Given the description of an element on the screen output the (x, y) to click on. 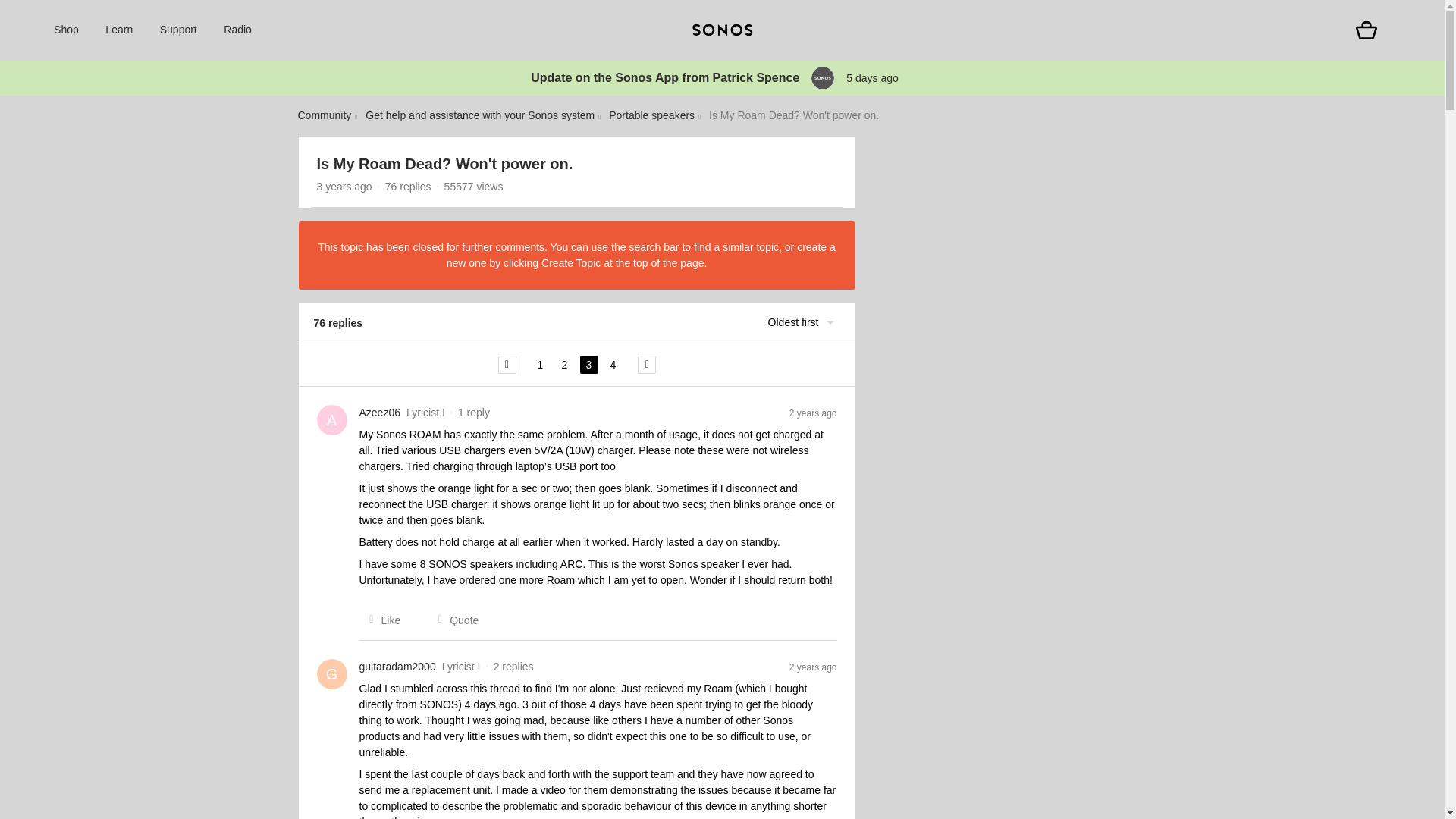
Shop (65, 30)
76 replies (407, 186)
Get help and assistance with your Sonos system (479, 115)
Azeez06 (379, 412)
Support (178, 30)
Learn (118, 30)
Portable speakers (651, 115)
Community (323, 115)
guitaradam2000 (397, 666)
Radio (237, 30)
